Given the description of an element on the screen output the (x, y) to click on. 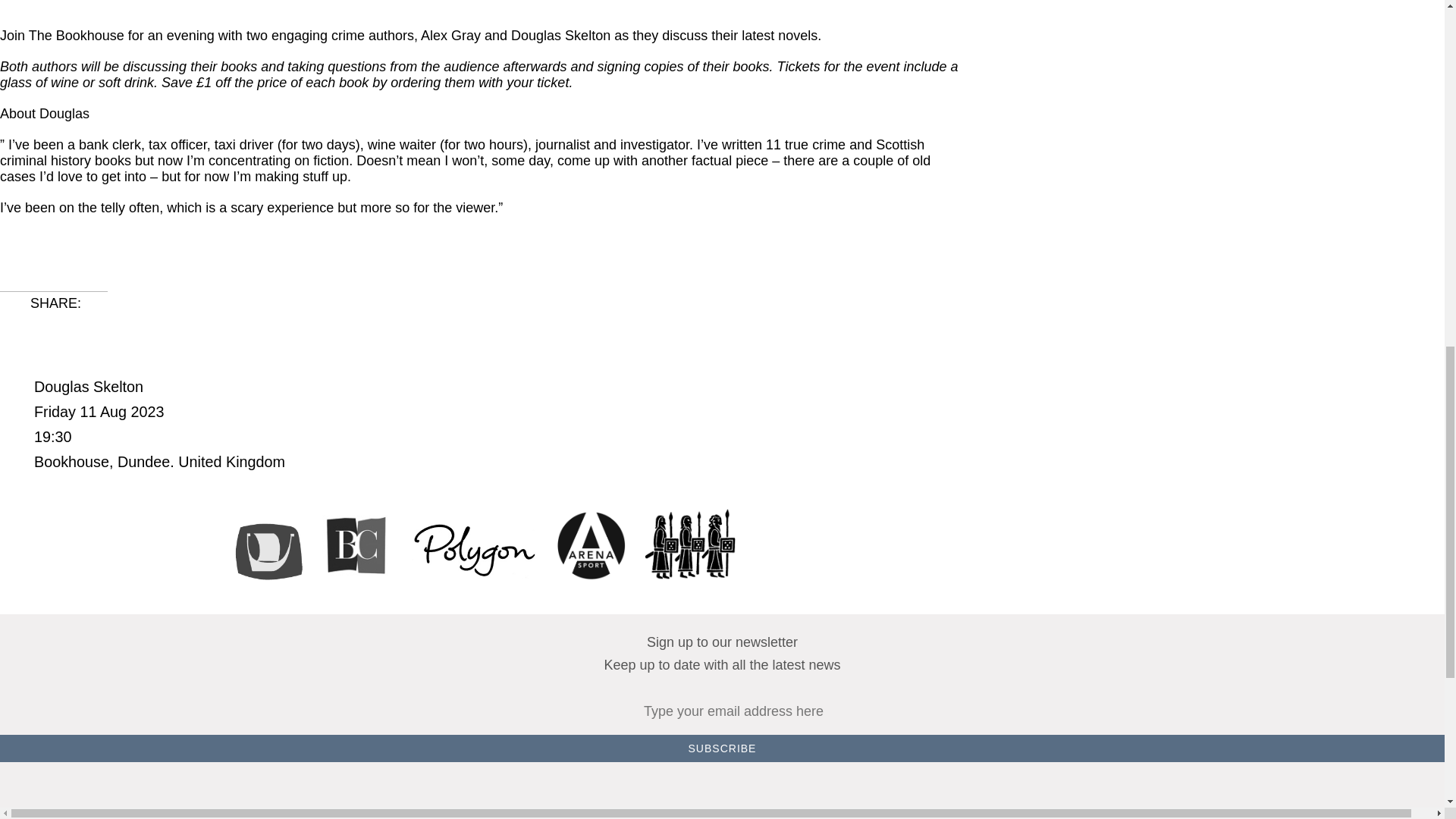
Subscribe (722, 748)
